Given the description of an element on the screen output the (x, y) to click on. 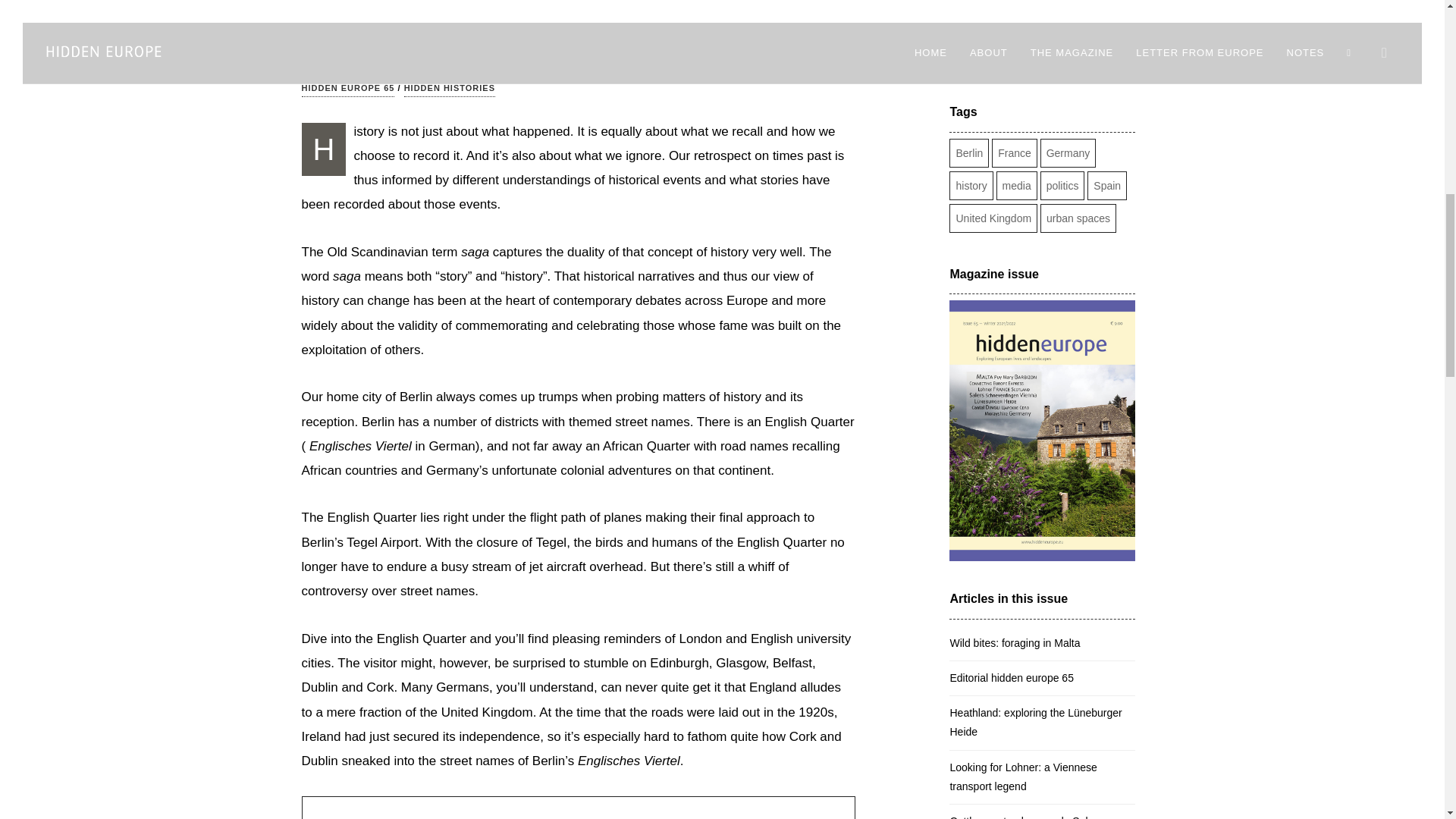
HIDDEN HISTORIES (449, 89)
urban spaces (1077, 218)
United Kingdom (992, 218)
Wild bites: foraging in Malta (1042, 642)
history (971, 185)
Spain (1107, 185)
Berlin (968, 152)
politics (1062, 185)
France (1013, 152)
Germany (1068, 152)
media (1016, 185)
HIDDEN EUROPE 65 (347, 89)
